Given the description of an element on the screen output the (x, y) to click on. 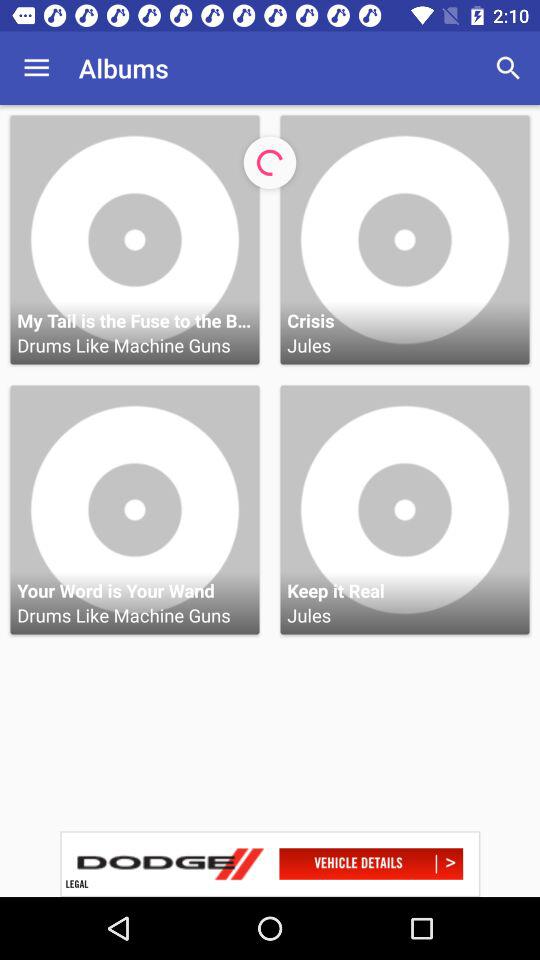
link button (270, 864)
